Given the description of an element on the screen output the (x, y) to click on. 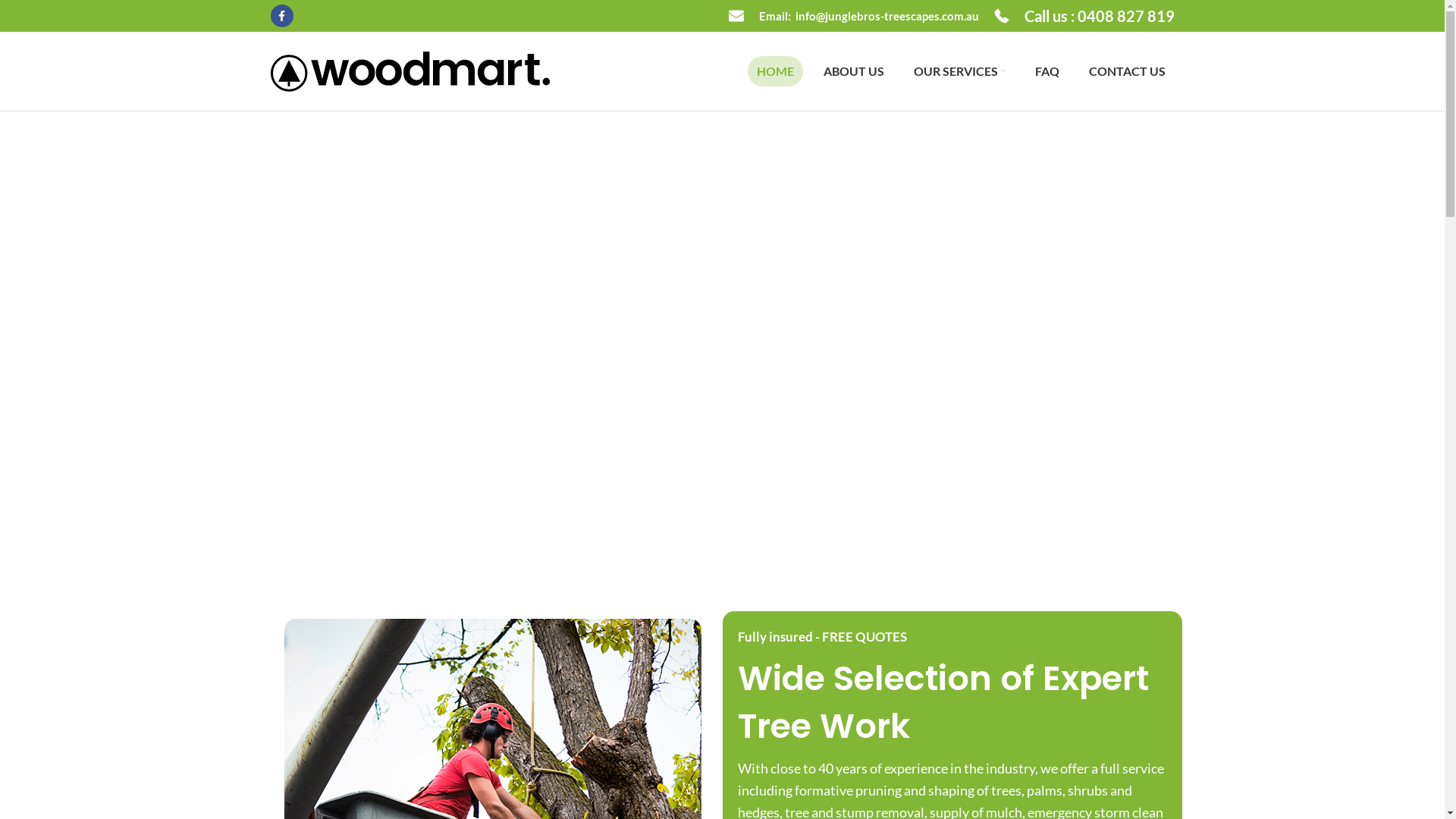
Email:  info@junglebros-treescapes.com.au Element type: text (853, 15)
CONTACT US Element type: text (1126, 71)
HOME Element type: text (775, 71)
OUR SERVICES Element type: text (958, 71)
email (2) Element type: hover (735, 15)
phone-call Element type: hover (1000, 15)
FAQ Element type: text (1046, 71)
ABOUT US Element type: text (853, 71)
Call us : 0408 827 819 Element type: text (1083, 15)
